Given the description of an element on the screen output the (x, y) to click on. 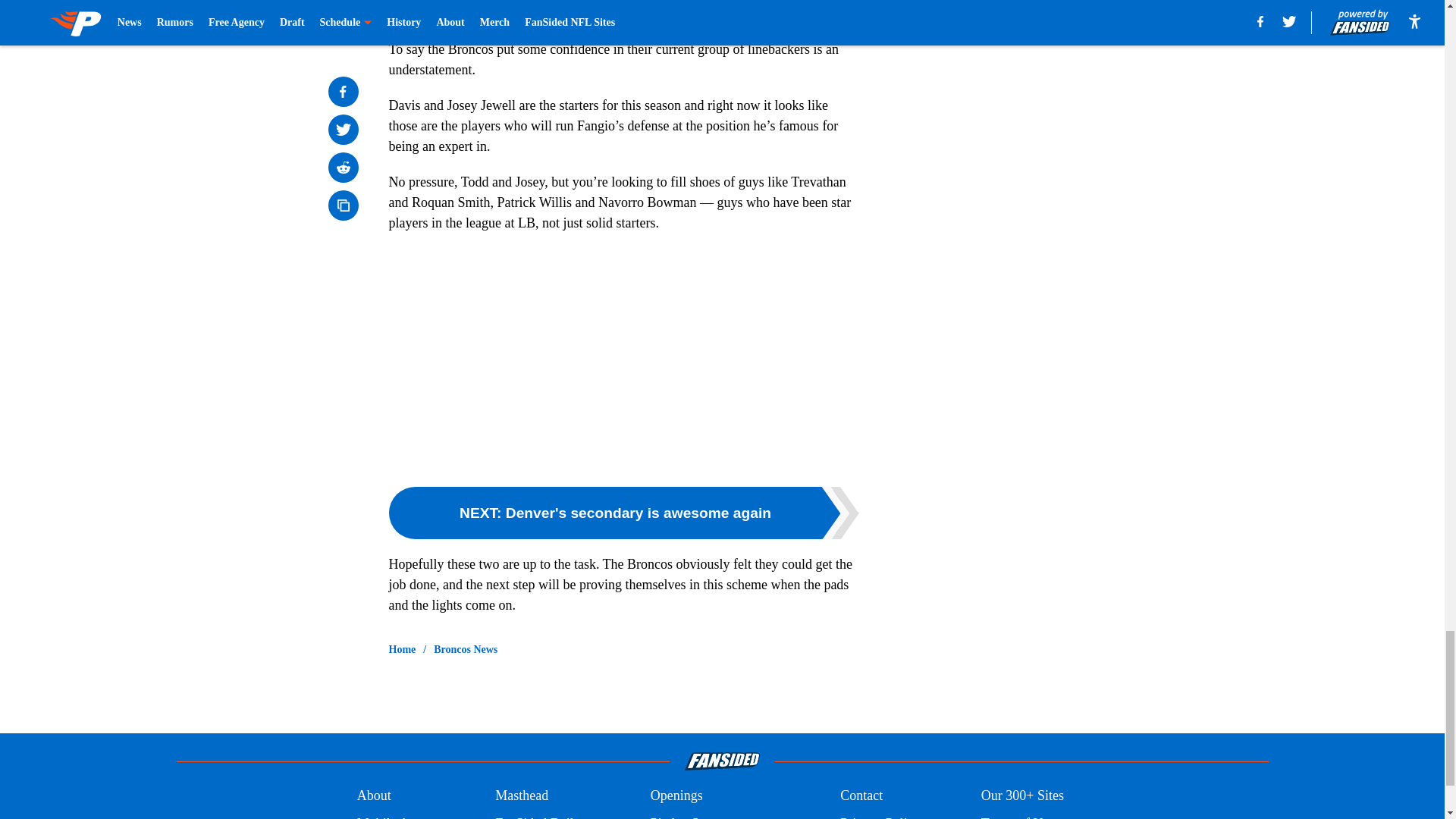
Broncos News (465, 649)
Terms of Use (1017, 816)
Privacy Policy (880, 816)
About (373, 795)
Pitch a Story (685, 816)
FanSided Daily (537, 816)
Mobile Apps (392, 816)
Masthead (521, 795)
Openings (676, 795)
Home (401, 649)
NEXT: Denver's secondary is awesome again (623, 512)
Contact (861, 795)
